Given the description of an element on the screen output the (x, y) to click on. 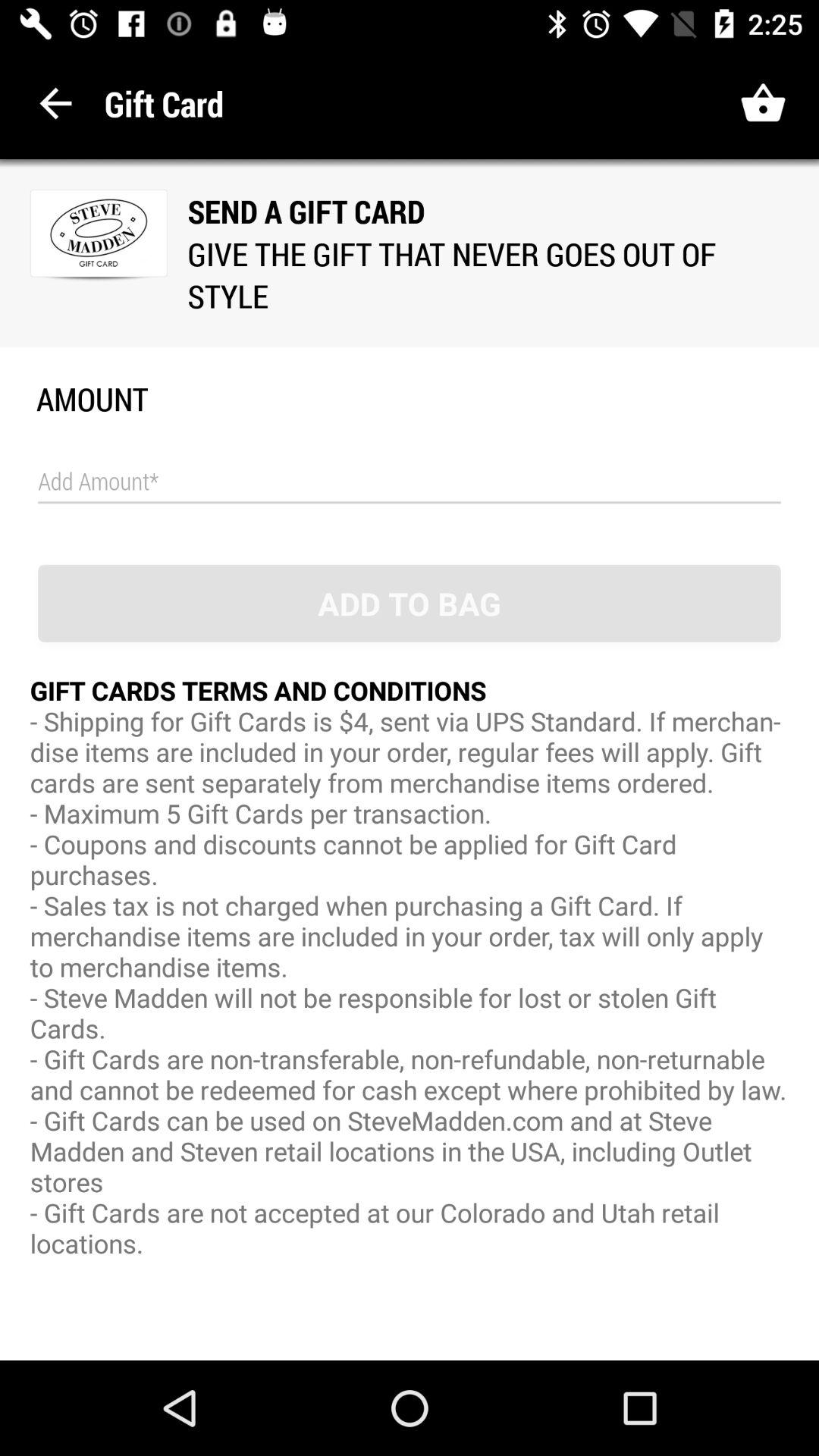
select the item next to gift card icon (55, 103)
